Given the description of an element on the screen output the (x, y) to click on. 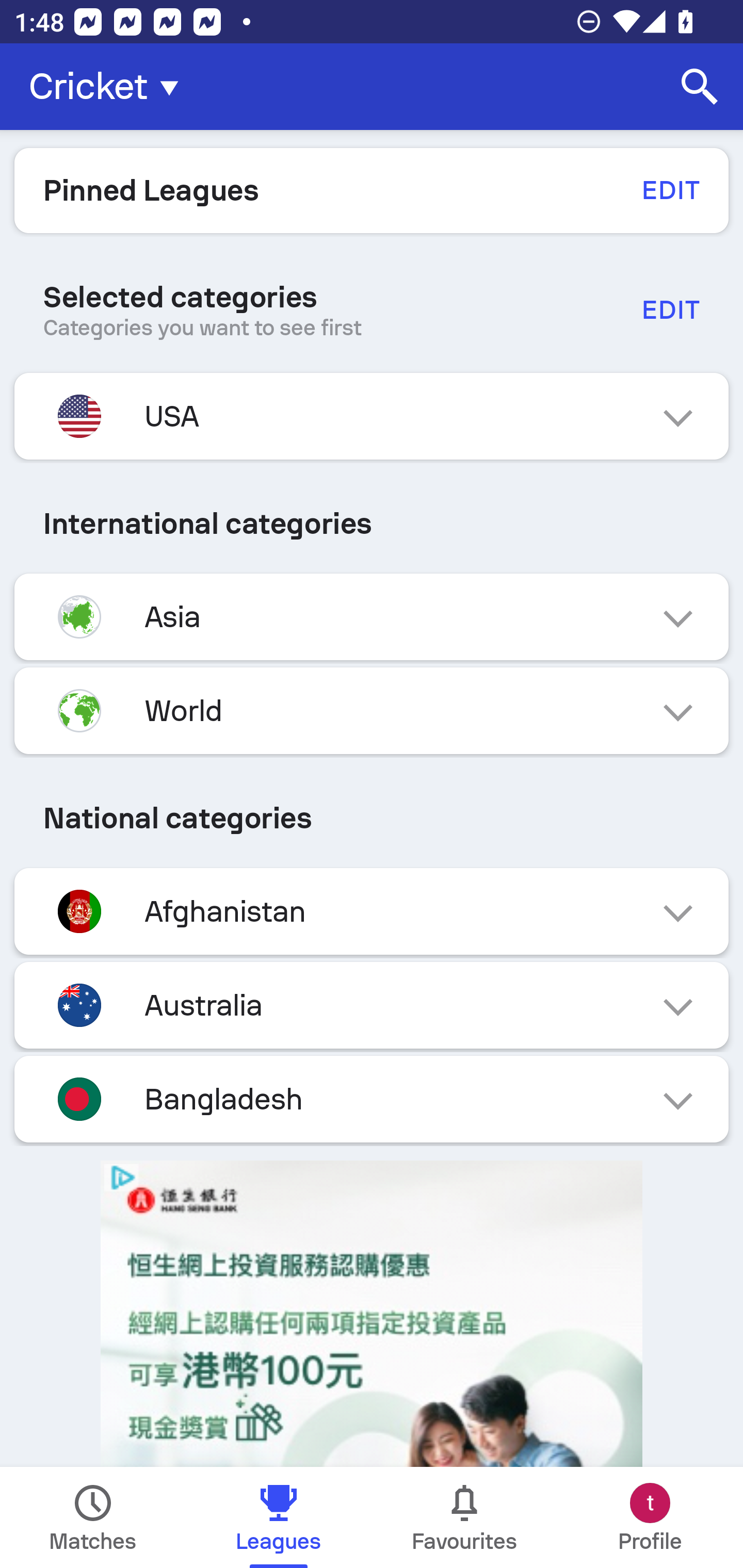
Cricket (109, 86)
Search (699, 86)
Pinned Leagues EDIT (371, 190)
EDIT (670, 190)
EDIT (670, 309)
USA (371, 416)
International categories (371, 523)
Asia (371, 616)
World (371, 710)
National categories (371, 817)
Afghanistan (371, 911)
Australia (371, 1004)
Bangladesh (371, 1099)
Advertisement (371, 1313)
Matches (92, 1517)
Favourites (464, 1517)
Profile (650, 1517)
